Given the description of an element on the screen output the (x, y) to click on. 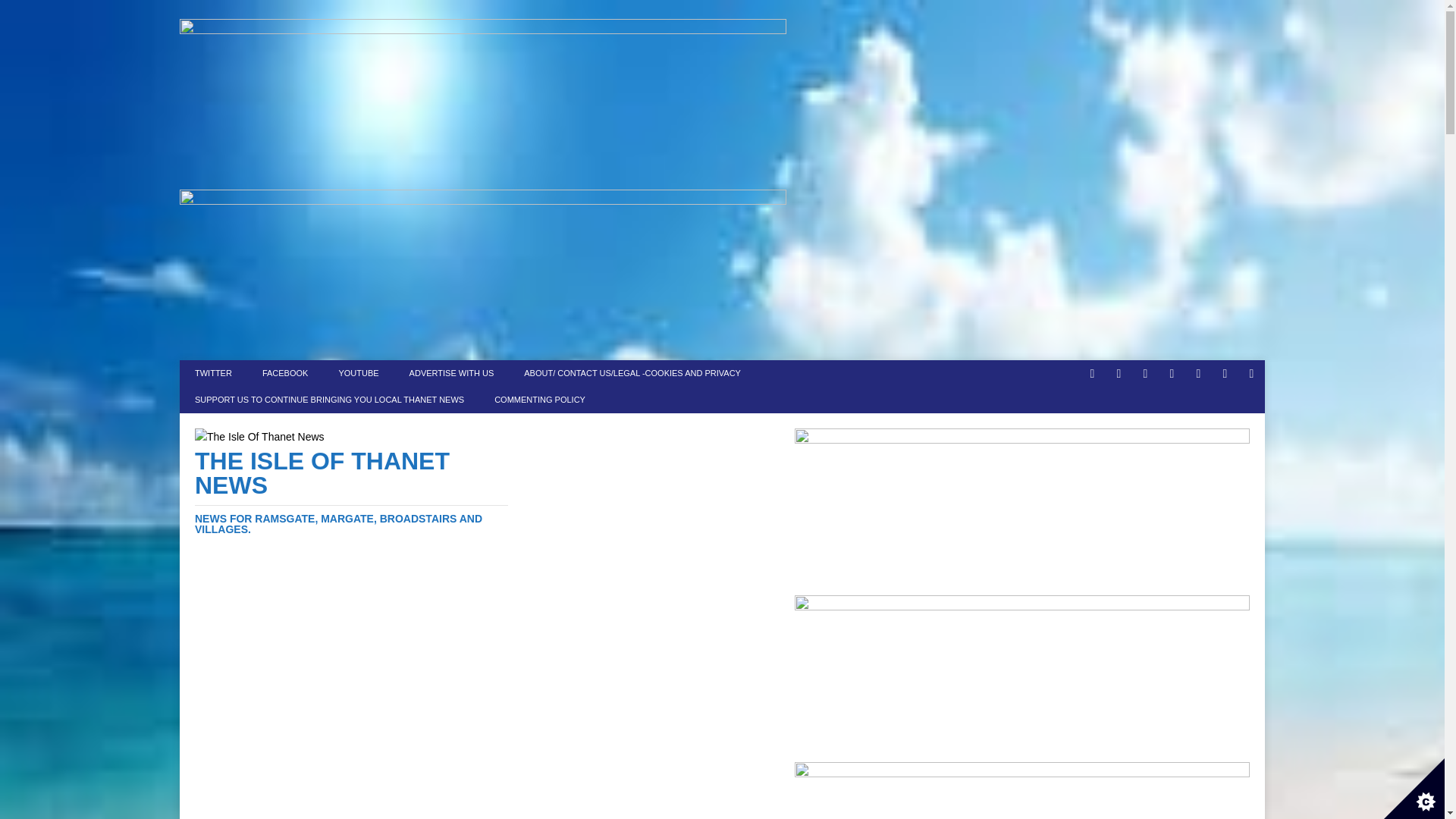
ADVERTISE WITH US (451, 373)
FACEBOOK (285, 373)
The Isle Of Thanet News (351, 491)
TWITTER (213, 373)
YOUTUBE (358, 373)
SUPPORT US TO CONTINUE BRINGING YOU LOCAL THANET NEWS (329, 399)
COMMENTING POLICY (539, 399)
